Given the description of an element on the screen output the (x, y) to click on. 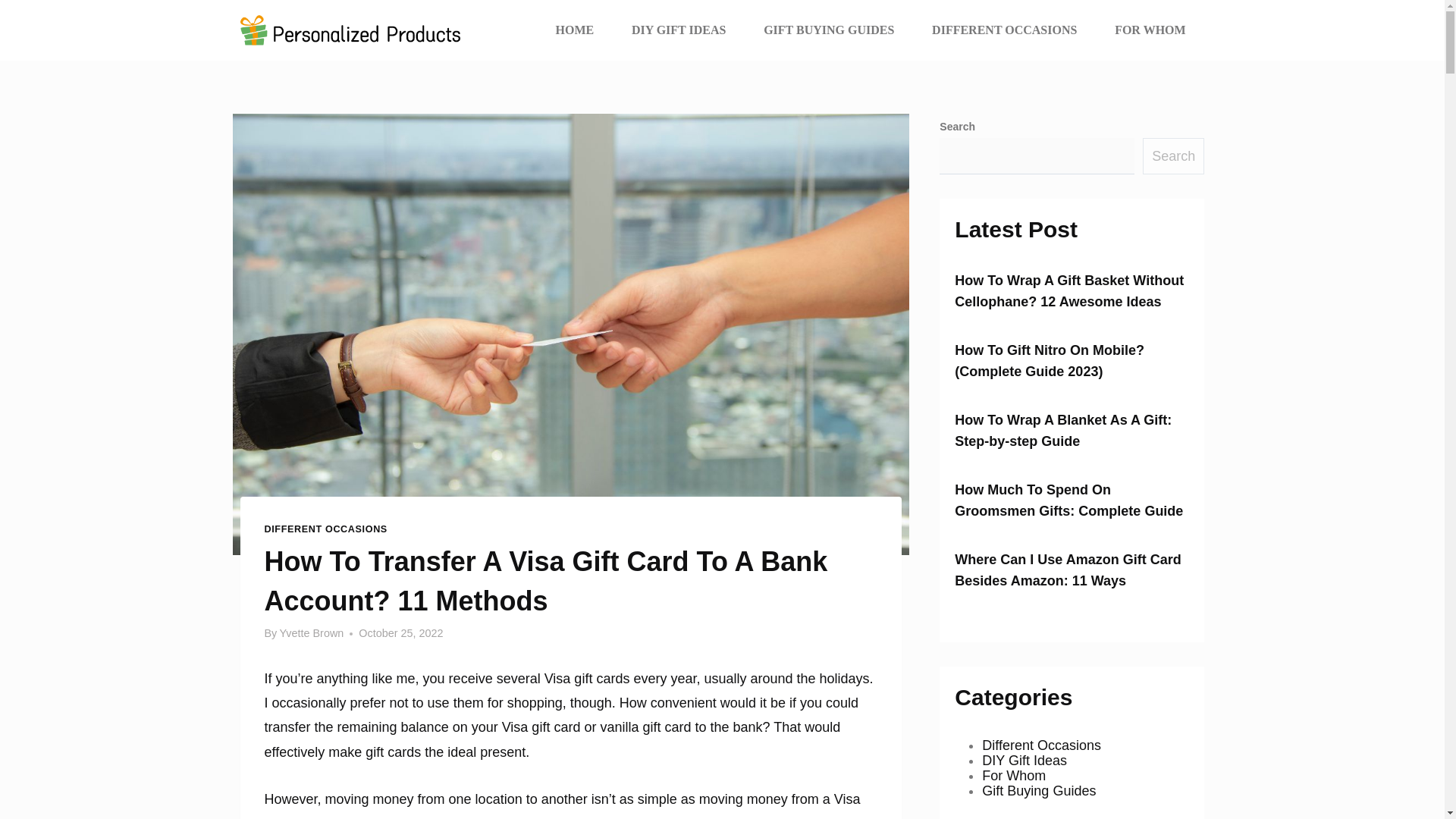
Yvette Brown (311, 633)
HOME (574, 29)
DIY GIFT IDEAS (678, 29)
DIFFERENT OCCASIONS (325, 527)
GIFT BUYING GUIDES (828, 29)
FOR WHOM (1150, 29)
DIFFERENT OCCASIONS (1004, 29)
